Given the description of an element on the screen output the (x, y) to click on. 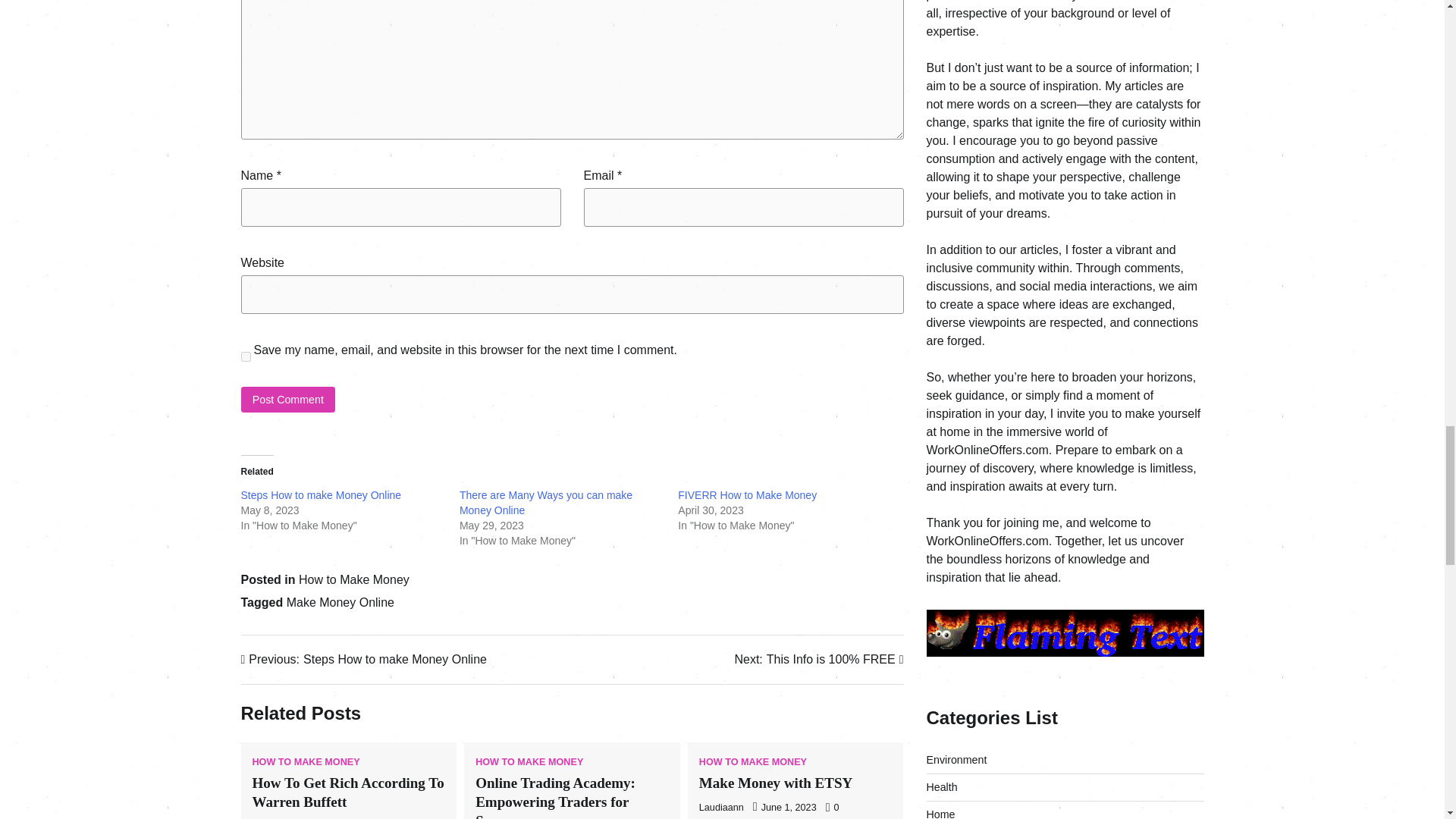
How to Make Money (353, 579)
Laudiaann (721, 807)
How To Get Rich According To Warren Buffett (347, 791)
Make Money Online (340, 602)
YouTube video player (1065, 231)
FIVERR How to Make Money (747, 494)
HOW TO MAKE MONEY (752, 762)
There are Many Ways you can make Money Online (545, 502)
There are Many Ways you can make Money Online (545, 502)
Steps How to make Money Online (363, 659)
Online Trading Academy: Empowering Traders for Success (321, 494)
HOW TO MAKE MONEY (555, 796)
Post Comment (305, 762)
HOW TO MAKE MONEY (288, 398)
